Given the description of an element on the screen output the (x, y) to click on. 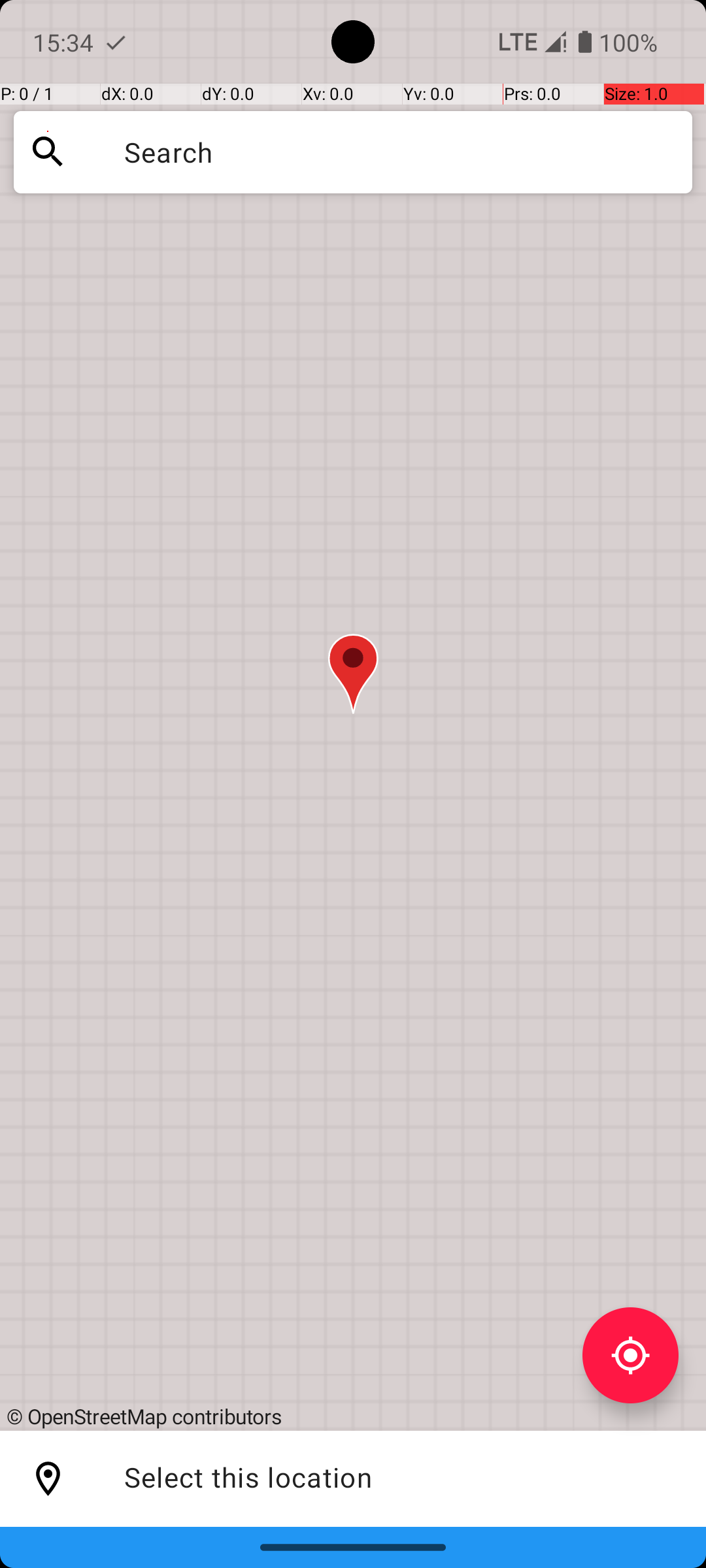
Select this location Element type: android.widget.ImageView (47, 1478)
